Given the description of an element on the screen output the (x, y) to click on. 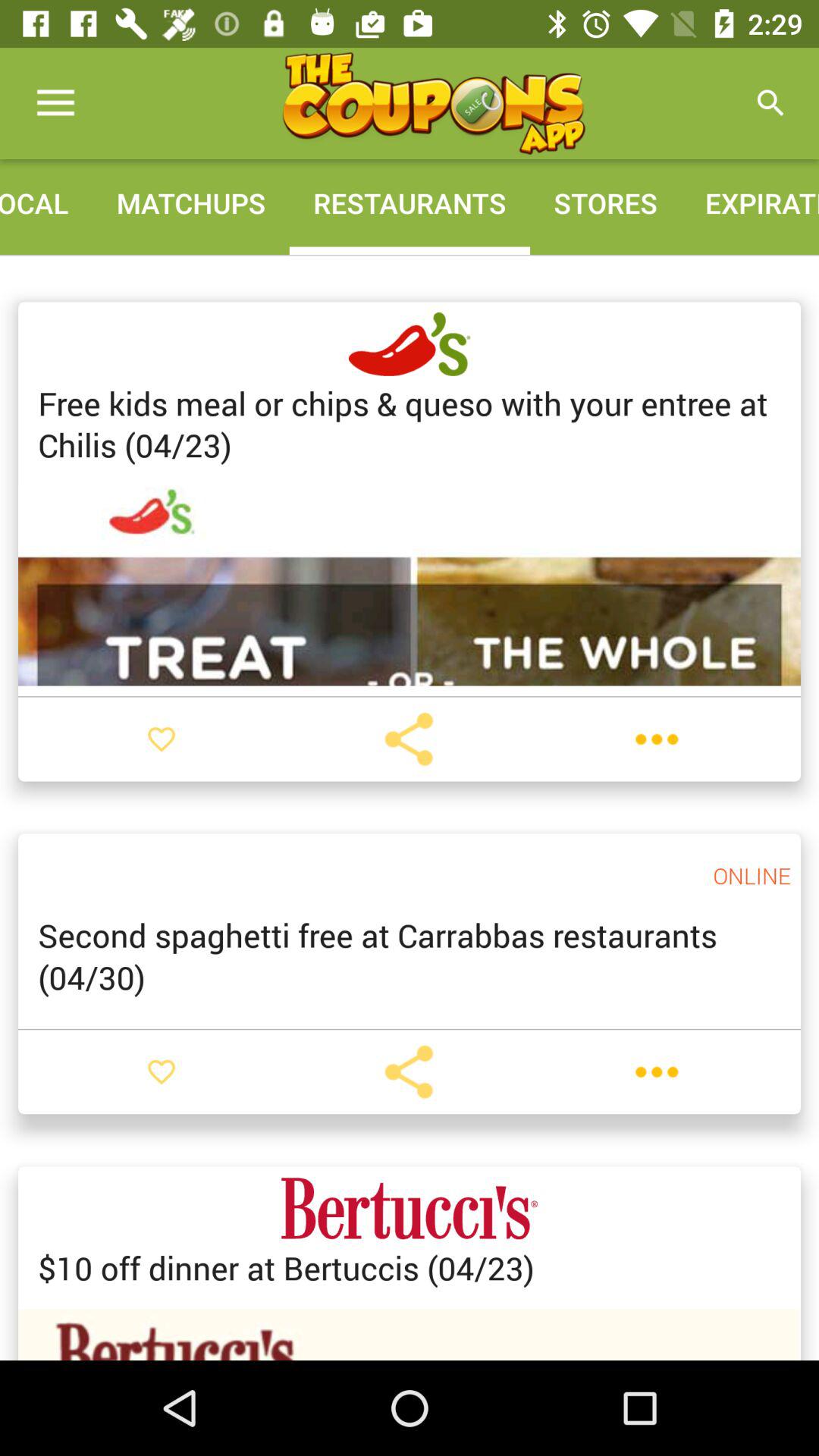
main menu (432, 103)
